Given the description of an element on the screen output the (x, y) to click on. 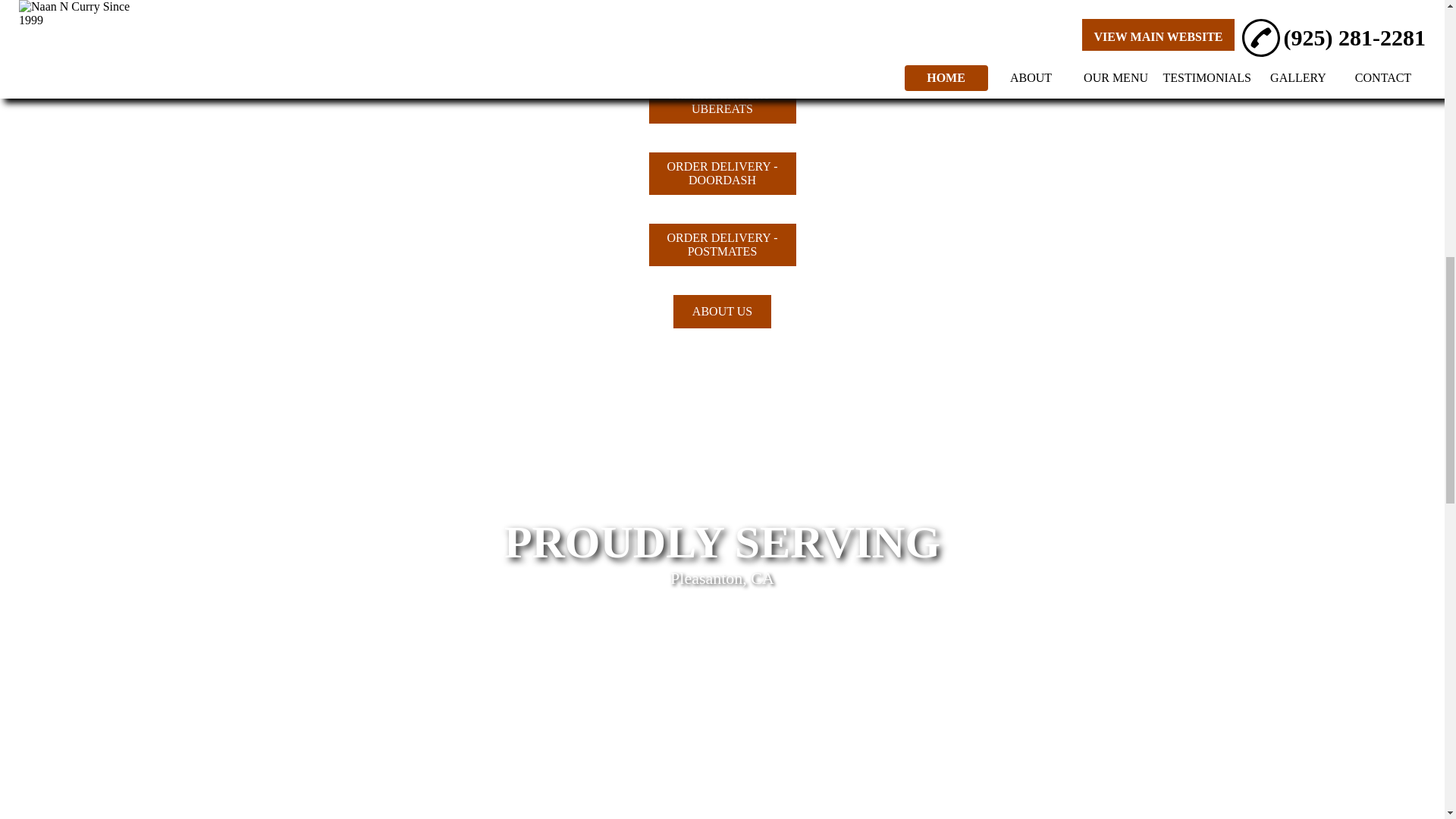
ORDER DELIVERY - POSTMATES (721, 244)
ORDER NOW (721, 37)
ORDER DELIVERY - UBEREATS (721, 102)
ORDER DELIVERY - DOORDASH (721, 173)
ABOUT US (721, 311)
